Given the description of an element on the screen output the (x, y) to click on. 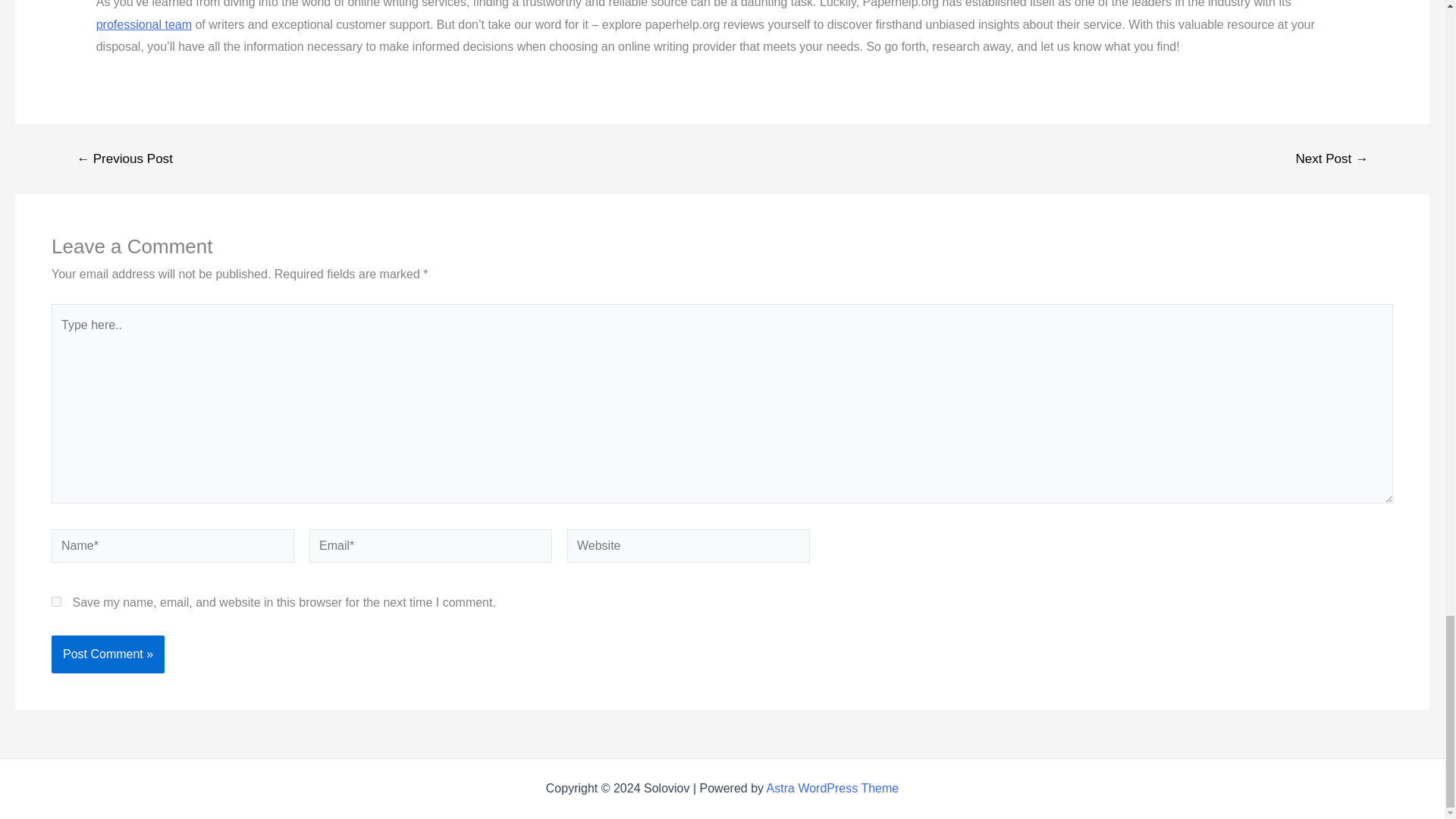
yes (55, 601)
professional team (144, 24)
Astra WordPress Theme (833, 788)
Crack the Code to Academic Success with Do Assignment Help (144, 24)
